Given the description of an element on the screen output the (x, y) to click on. 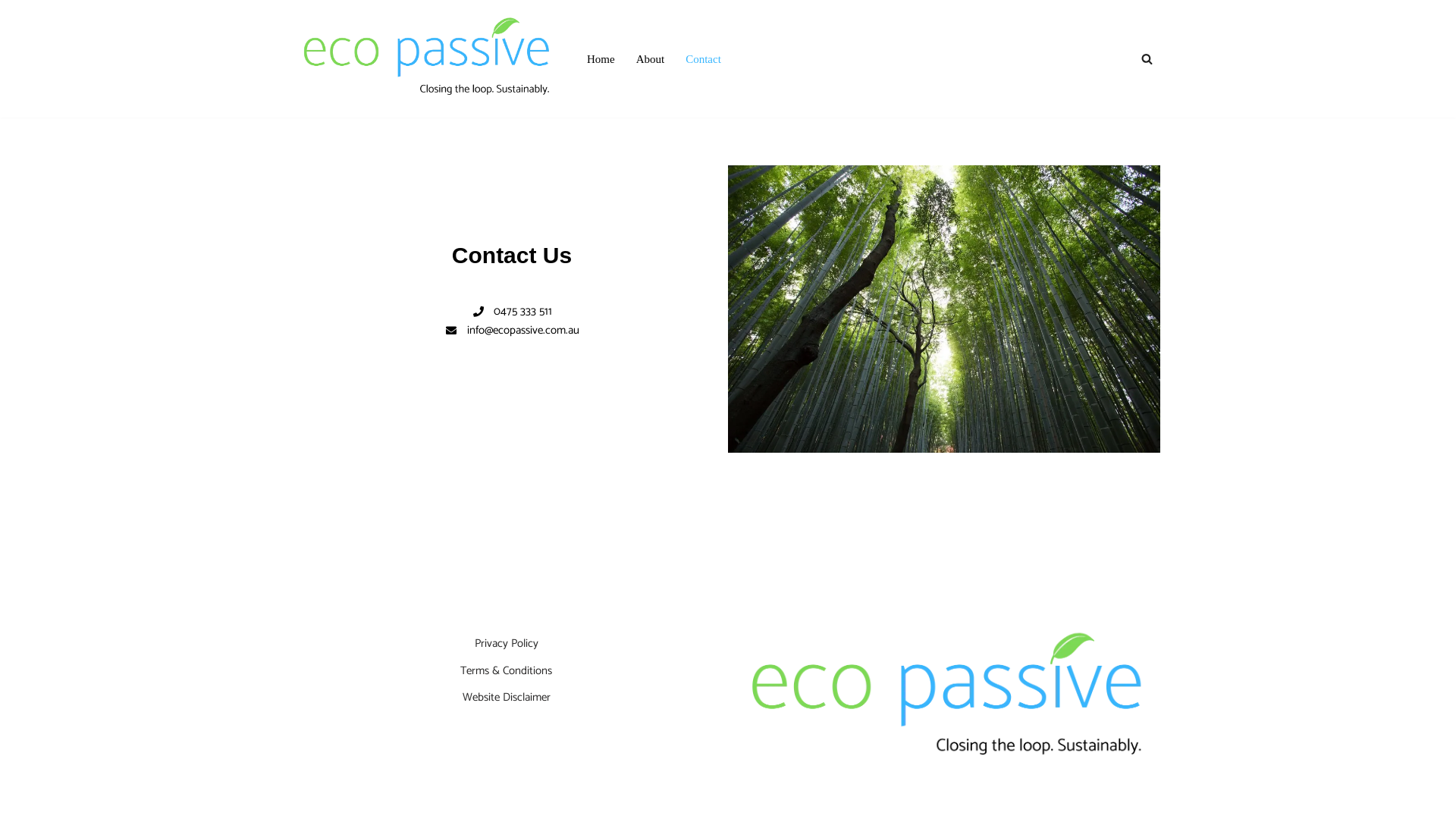
Home Element type: text (600, 58)
0475 333 511 Element type: text (511, 311)
Privacy Policy Element type: text (506, 642)
About Element type: text (650, 58)
WordPress Element type: text (411, 799)
info@ecopassive.com.au Element type: text (511, 330)
Skip to content Element type: text (11, 31)
Neve Element type: text (307, 799)
Contact Element type: text (703, 58)
Terms & Conditions Element type: text (506, 670)
Website Disclaimer Element type: text (506, 696)
Logo Element type: hover (949, 697)
